Given the description of an element on the screen output the (x, y) to click on. 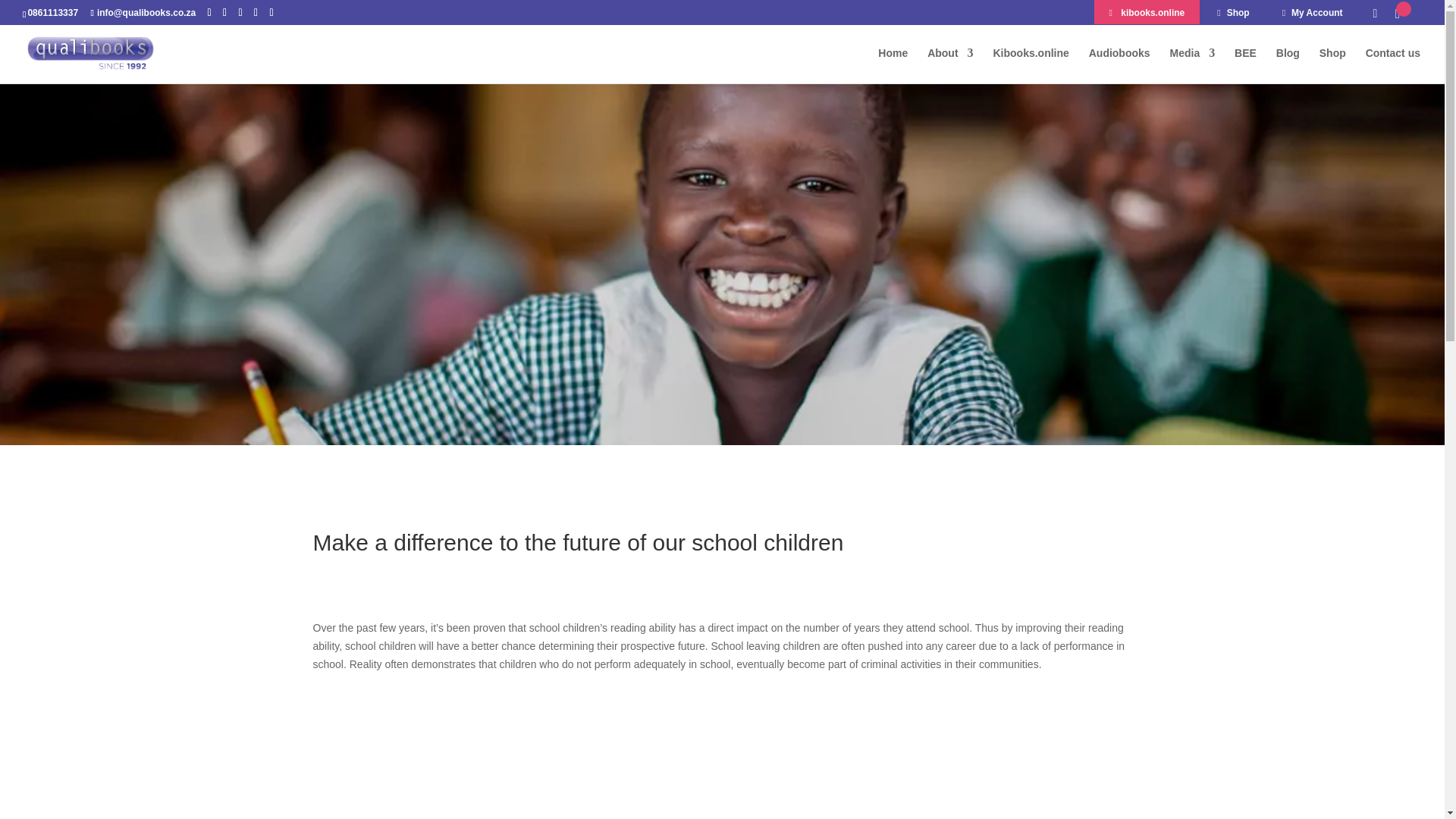
My Account (1312, 14)
About (949, 65)
Kibooks.online (1030, 65)
Media (1191, 65)
Contact us (1393, 65)
kibooks.online (1146, 14)
Shop (1232, 14)
Audiobooks (1119, 65)
